Given the description of an element on the screen output the (x, y) to click on. 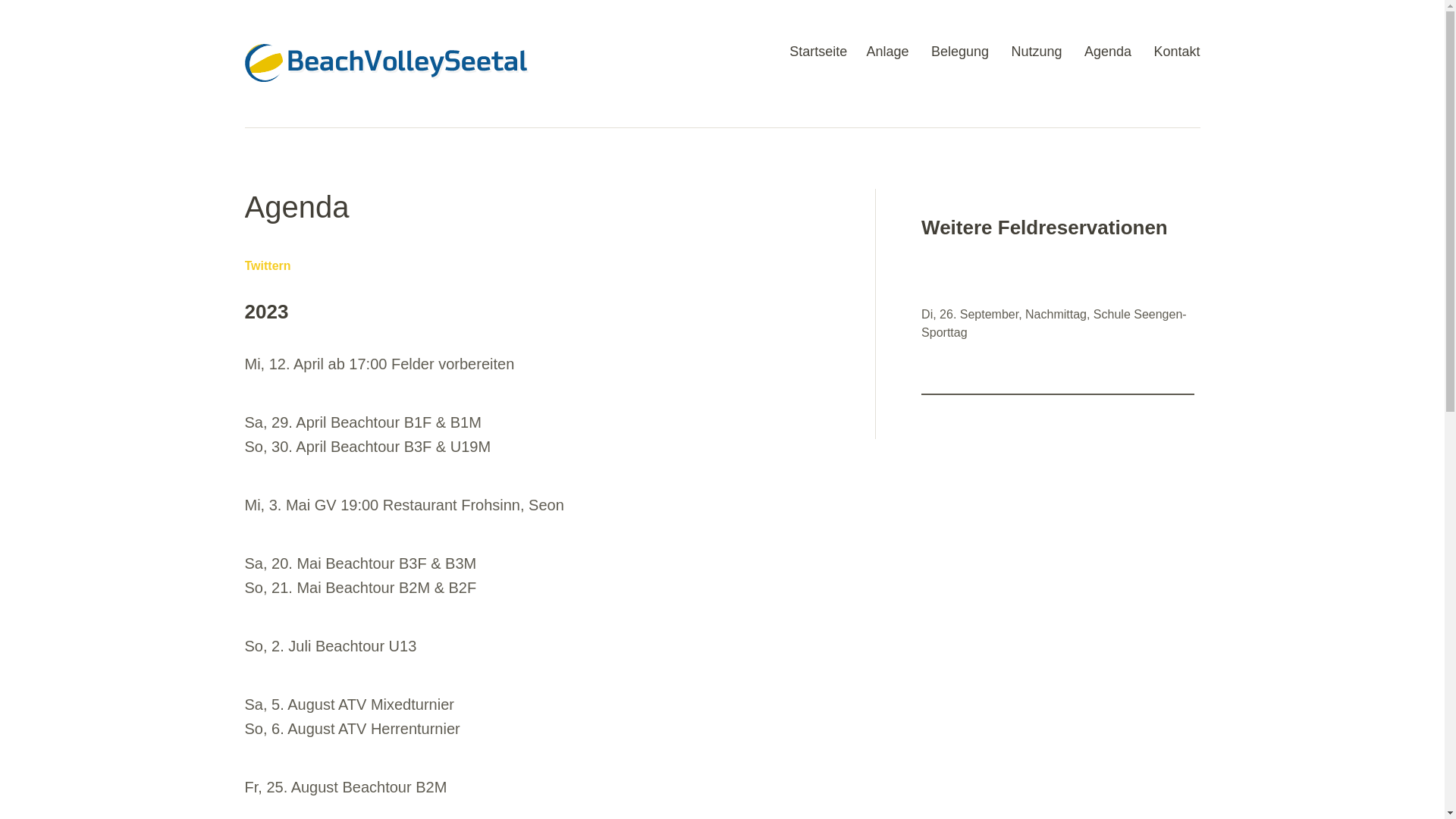
Agenda Element type: text (1107, 58)
Startseite Element type: text (818, 58)
Twittern Element type: text (267, 265)
Belegung Element type: text (959, 58)
Nutzung Element type: text (1035, 58)
BeachVolleySeetal Element type: hover (385, 85)
Anlage Element type: text (887, 58)
Kontakt Element type: text (1176, 58)
